Given the description of an element on the screen output the (x, y) to click on. 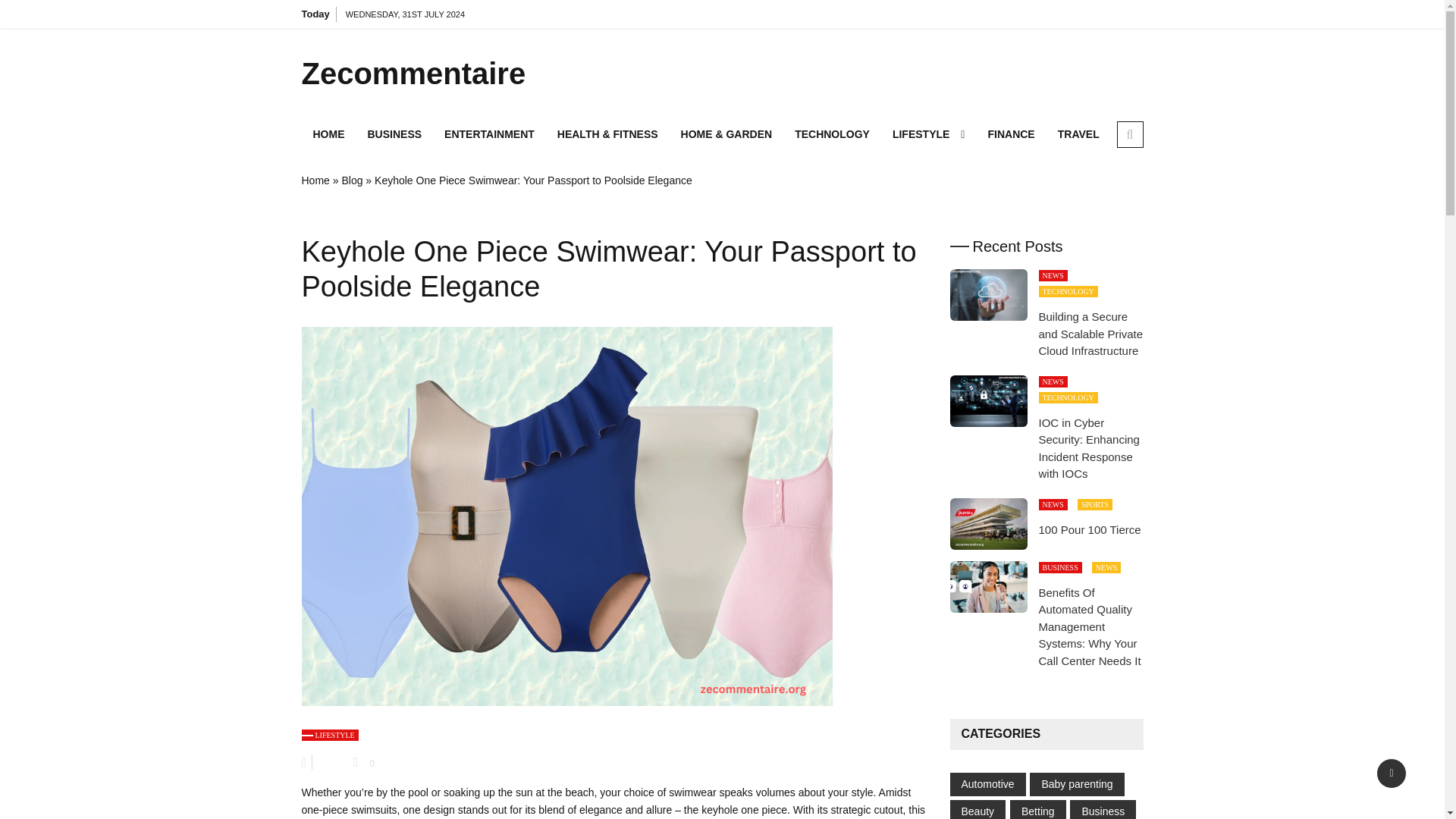
LIFESTYLE (329, 735)
HOME (328, 133)
Zecommentaire (434, 73)
Building a Secure and Scalable Private Cloud Infrastructure (1090, 333)
Home (315, 180)
TECHNOLOGY (831, 133)
TRAVEL (1078, 133)
BUSINESS (394, 133)
NEWS (1053, 381)
ENTERTAINMENT (489, 133)
NEWS (1053, 275)
FINANCE (1010, 133)
LIFESTYLE (928, 133)
Blog (351, 180)
TECHNOLOGY (1068, 291)
